Given the description of an element on the screen output the (x, y) to click on. 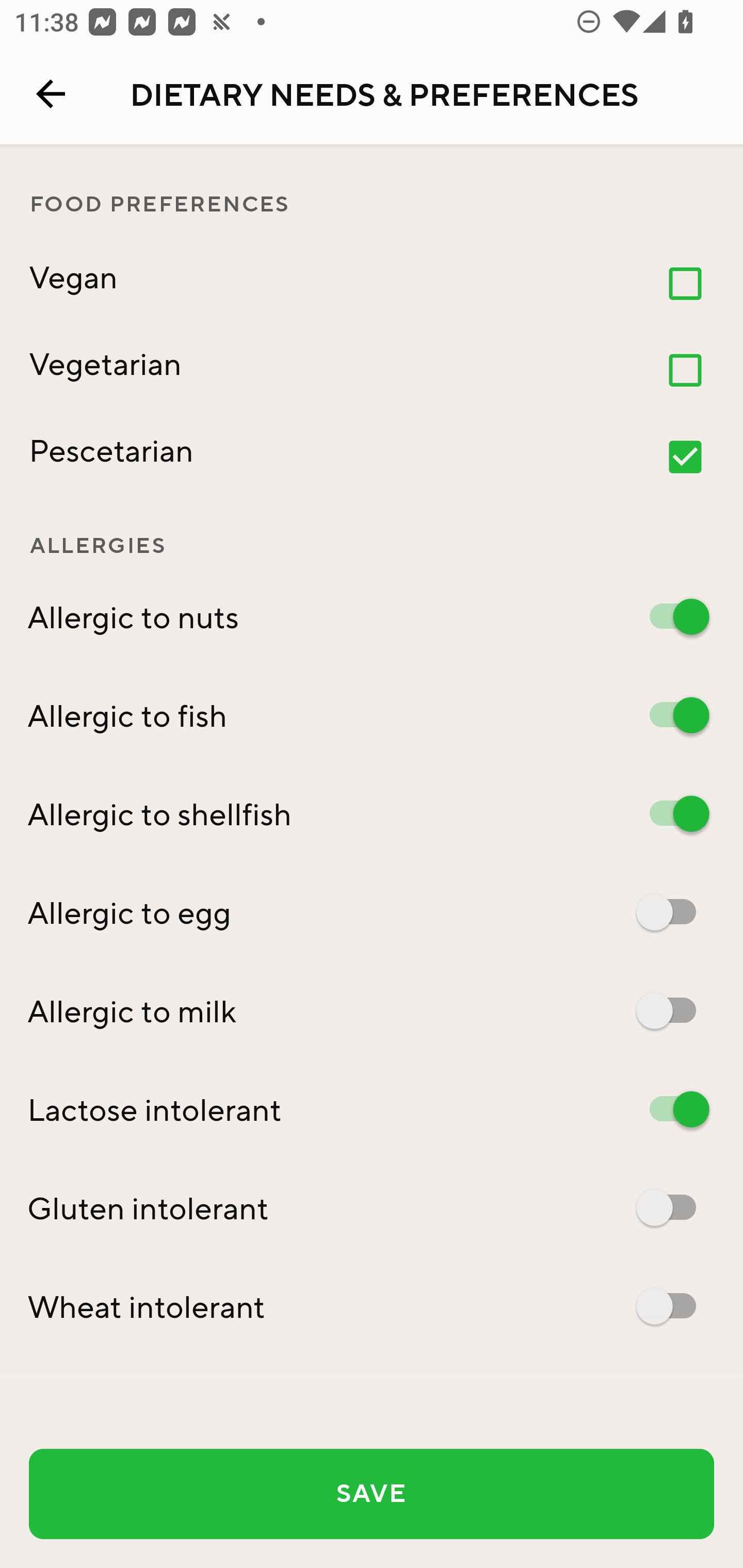
Navigate up (50, 93)
SAVE (371, 1493)
